Given the description of an element on the screen output the (x, y) to click on. 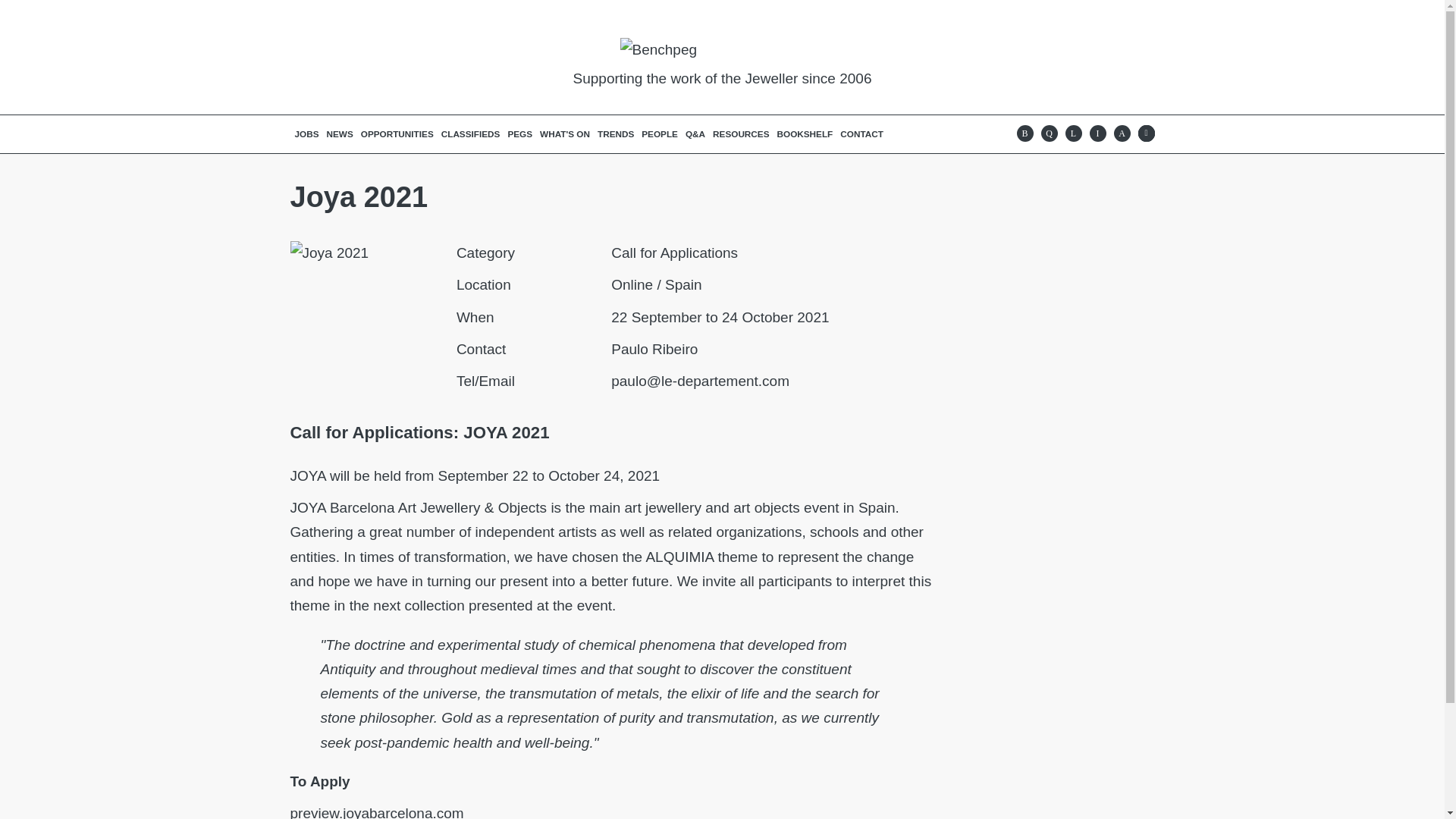
Search (1145, 133)
B (1024, 133)
PEOPLE (659, 134)
preview.joyabarcelona.com (376, 812)
A (1121, 133)
BOOKSHELF (805, 134)
JOBS (307, 134)
I (1097, 133)
CLASSIFIEDS (470, 134)
RESOURCES (741, 134)
NEWS (339, 134)
OPPORTUNITIES (397, 134)
CONTACT (860, 134)
L (1072, 133)
